Given the description of an element on the screen output the (x, y) to click on. 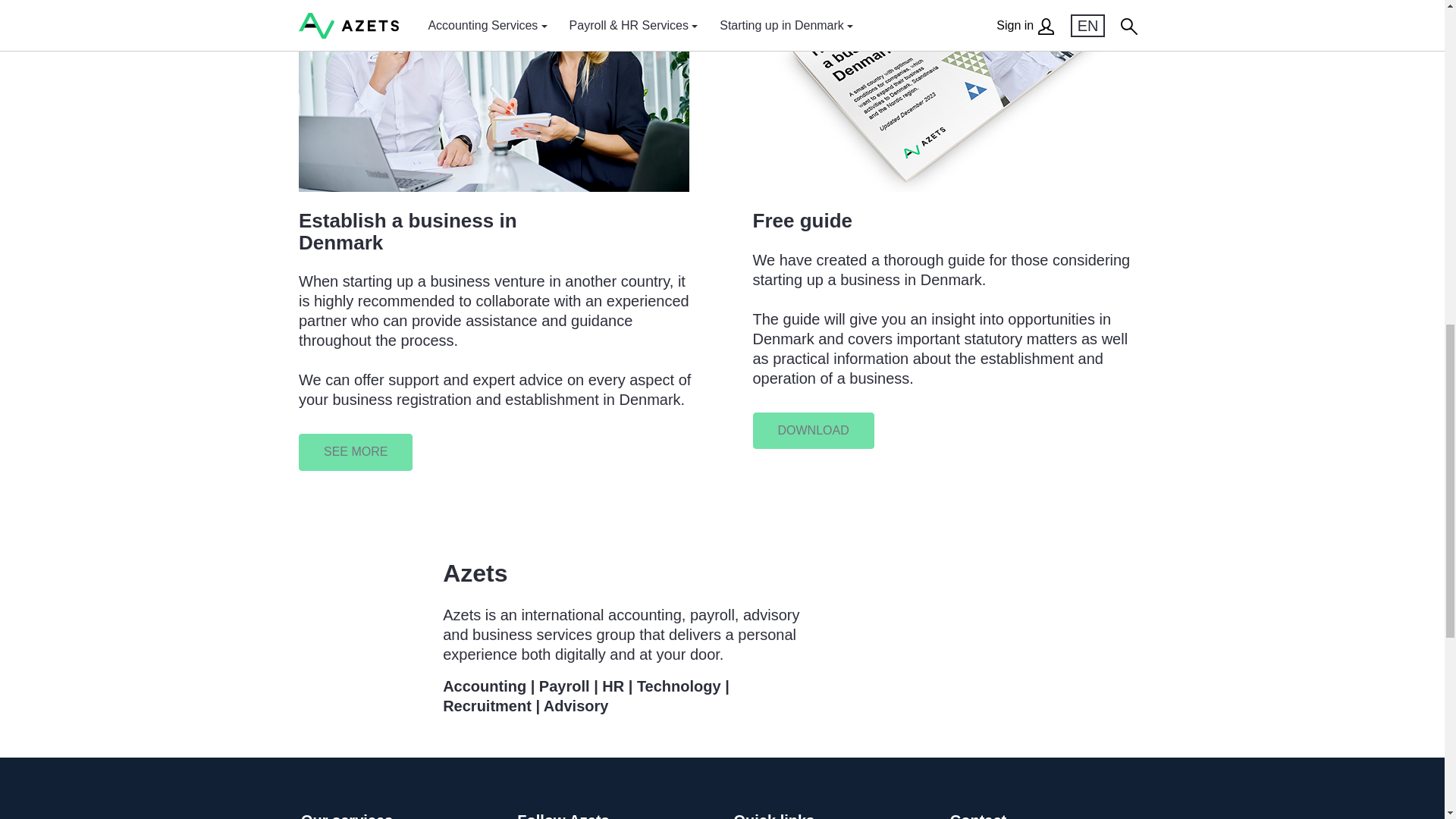
DOWNLOAD (812, 430)
Establishment in Denmark (355, 451)
Download (812, 430)
SEE MORE (355, 452)
SEE MORE (355, 451)
DOWNLOAD (812, 430)
